Given the description of an element on the screen output the (x, y) to click on. 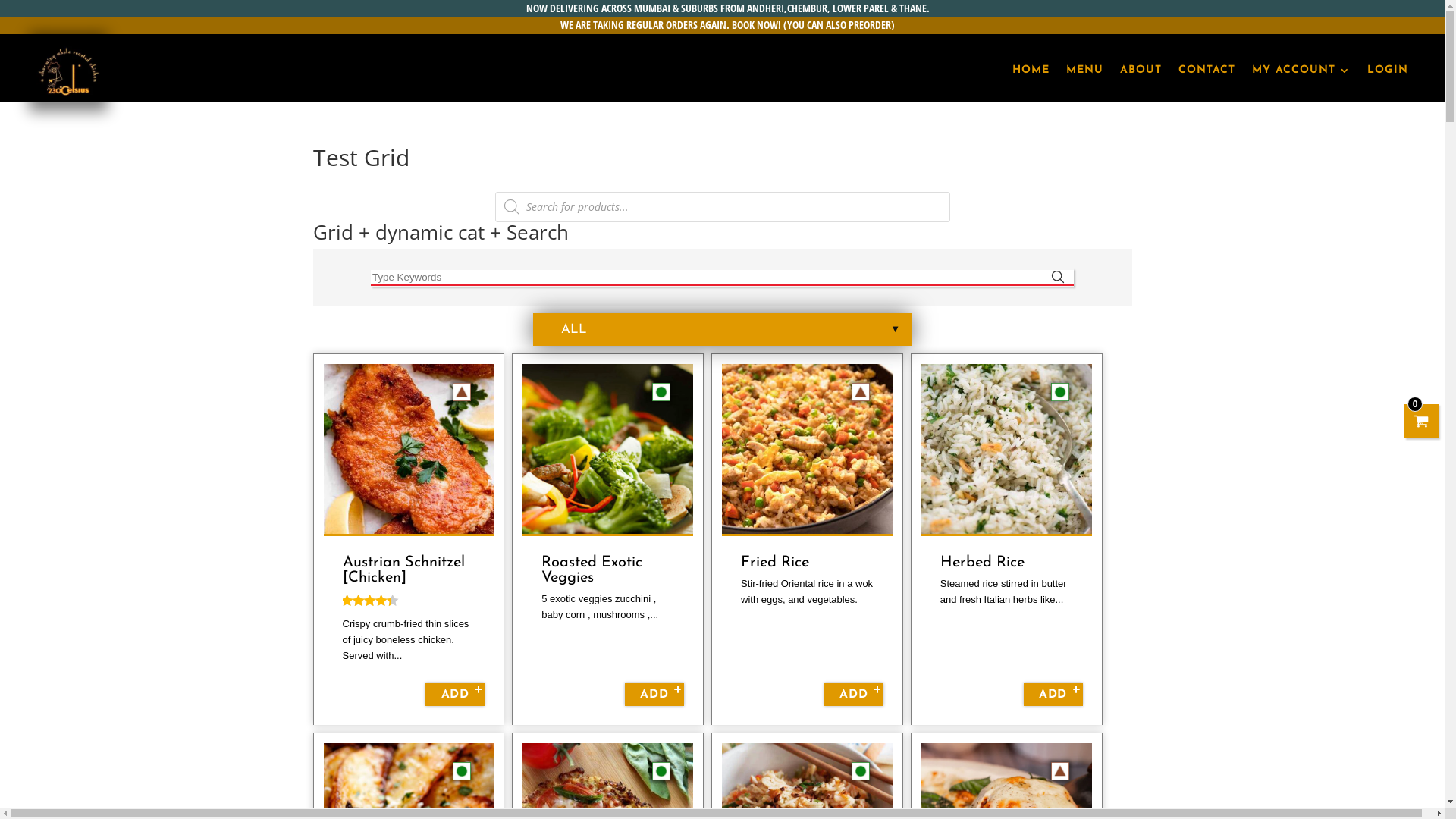
MENU Element type: text (1084, 70)
ABOUT Element type: text (1140, 70)
Roasted Exotic Veggies Element type: text (591, 570)
Fried Rice  Element type: text (776, 562)
Herbed Rice Element type: text (982, 562)
CONTACT Element type: text (1206, 70)
Austrian Schnitzel [Chicken] Element type: text (403, 570)
ADD Element type: text (1052, 694)
HOME Element type: text (1030, 70)
ADD Element type: text (654, 694)
MY ACCOUNT Element type: text (1301, 70)
LOGIN Element type: text (1387, 70)
ADD Element type: text (454, 694)
ADD Element type: text (853, 694)
0 Element type: text (1421, 420)
